Given the description of an element on the screen output the (x, y) to click on. 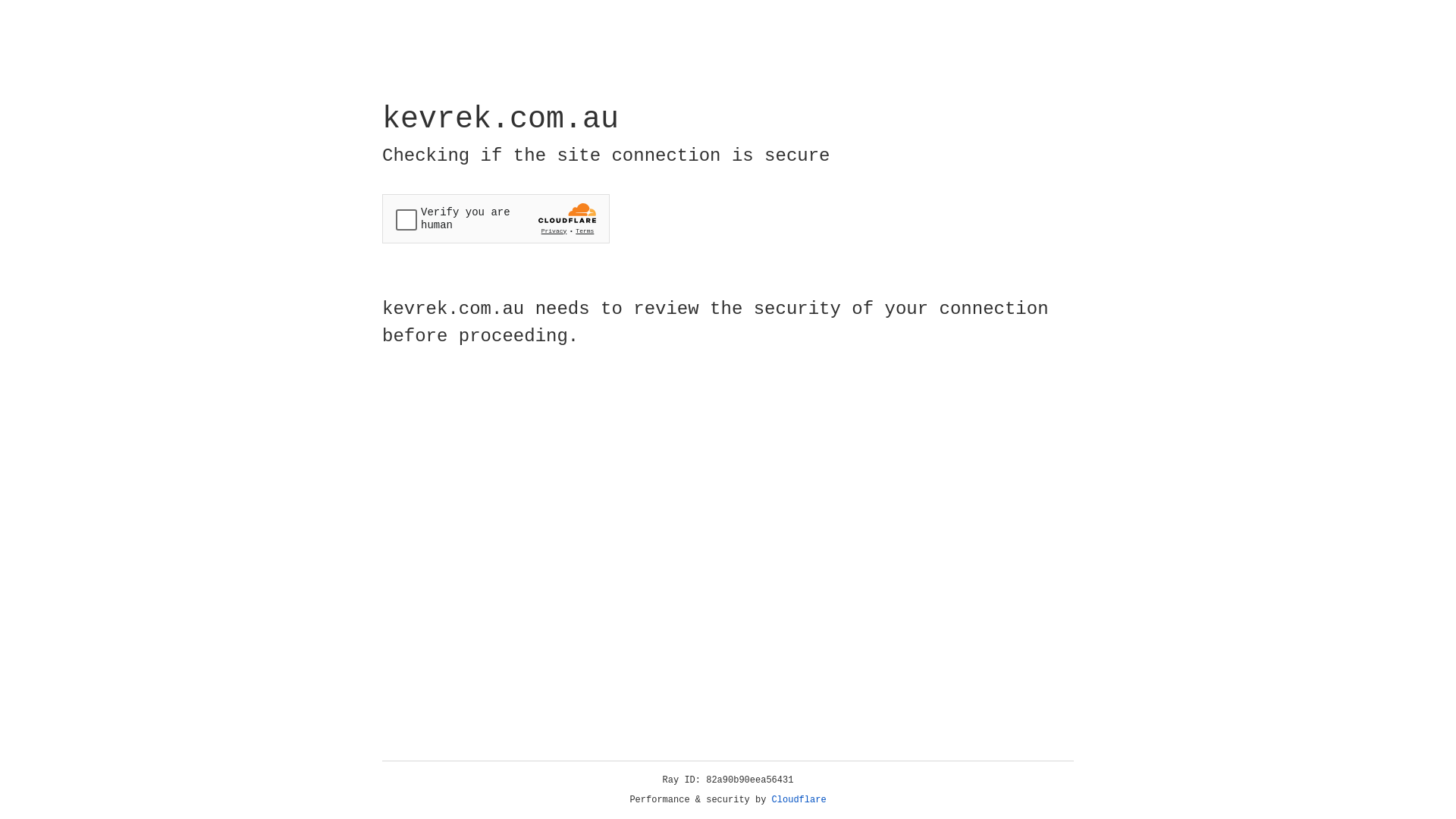
Cloudflare Element type: text (798, 799)
Widget containing a Cloudflare security challenge Element type: hover (495, 218)
